Given the description of an element on the screen output the (x, y) to click on. 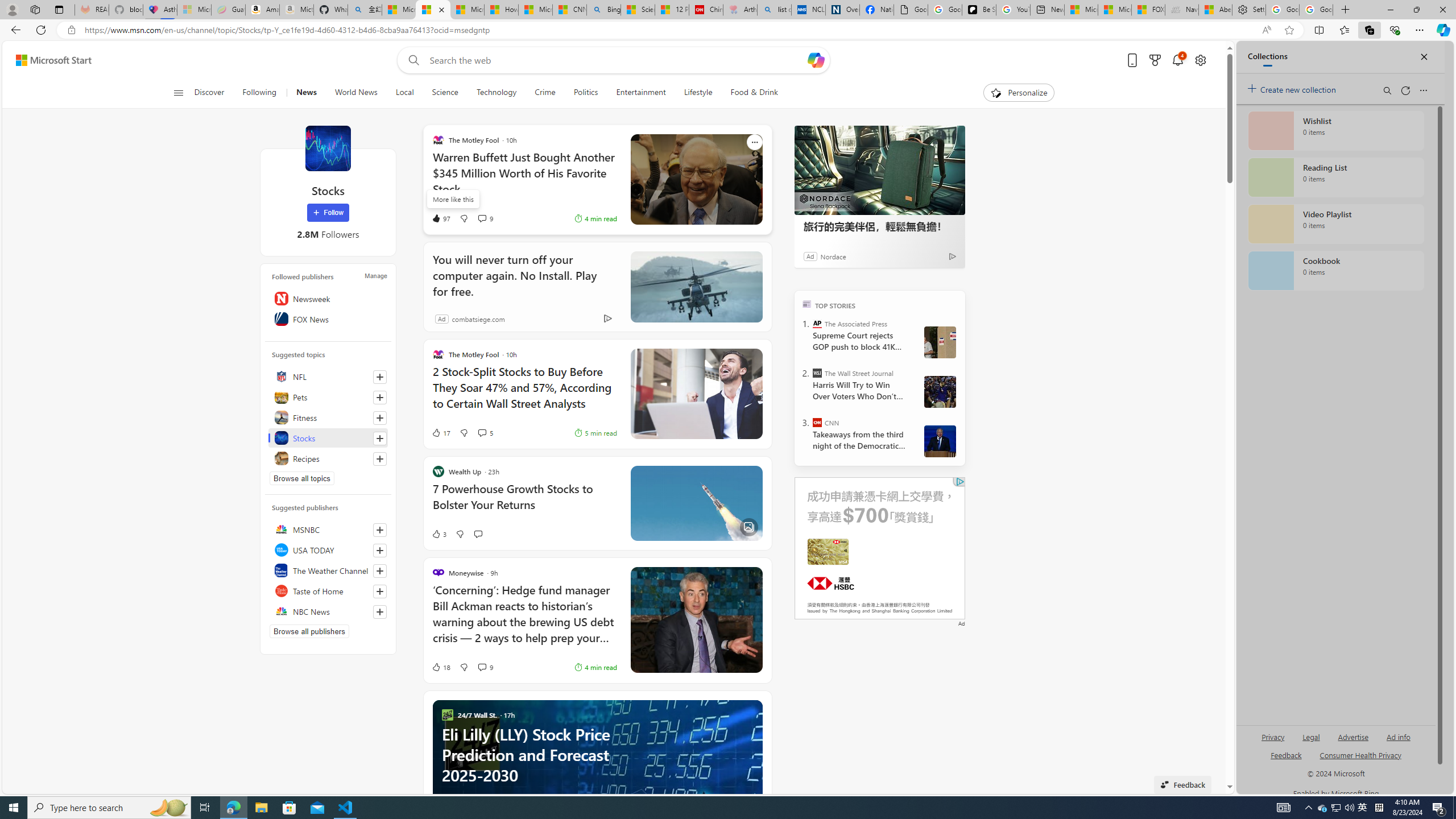
Class: qc-adchoices-icon (959, 481)
View comments 9 Comment (481, 666)
Taste of Home (327, 590)
